Given the description of an element on the screen output the (x, y) to click on. 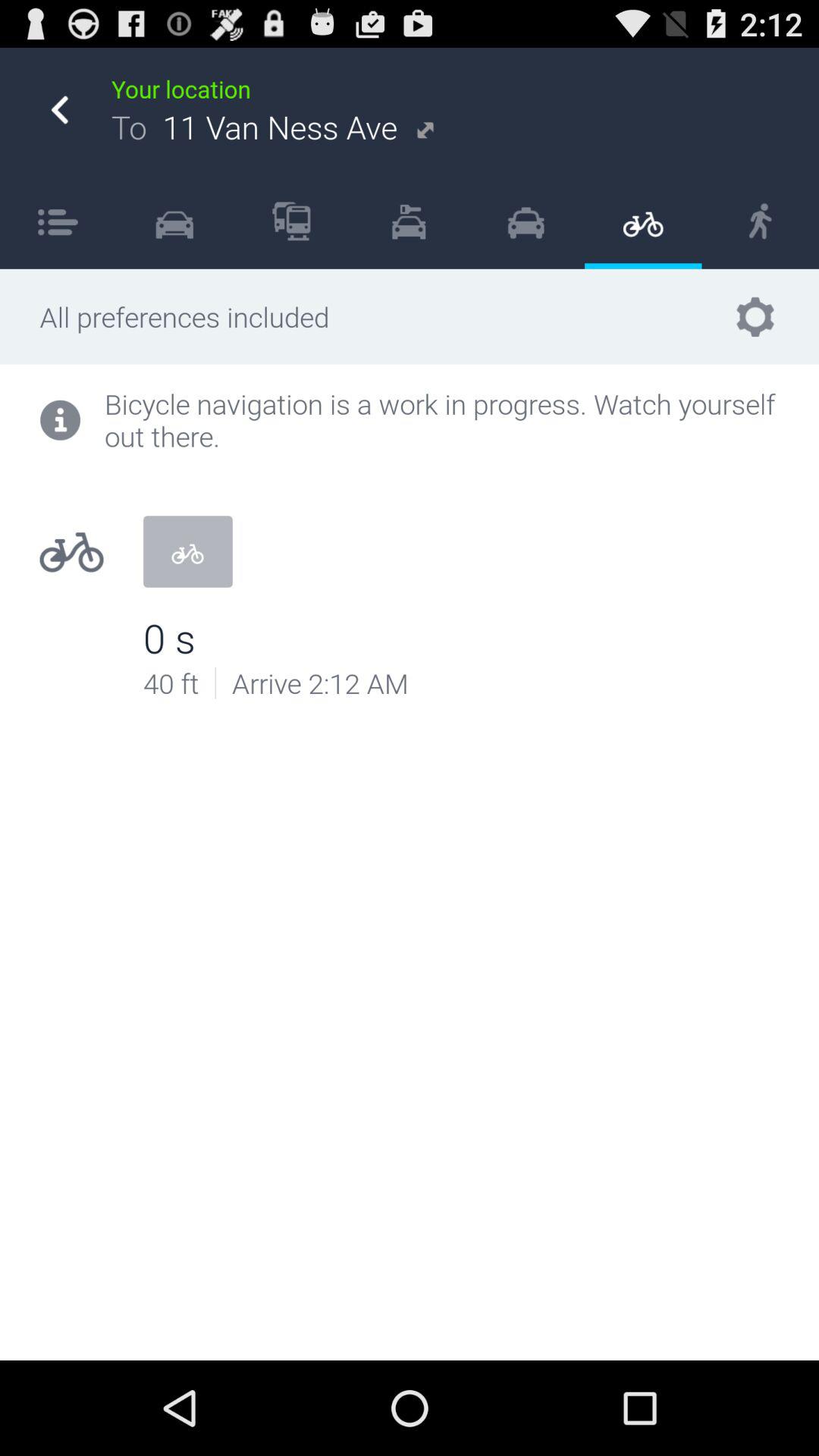
choose icon next to   item (525, 221)
